Given the description of an element on the screen output the (x, y) to click on. 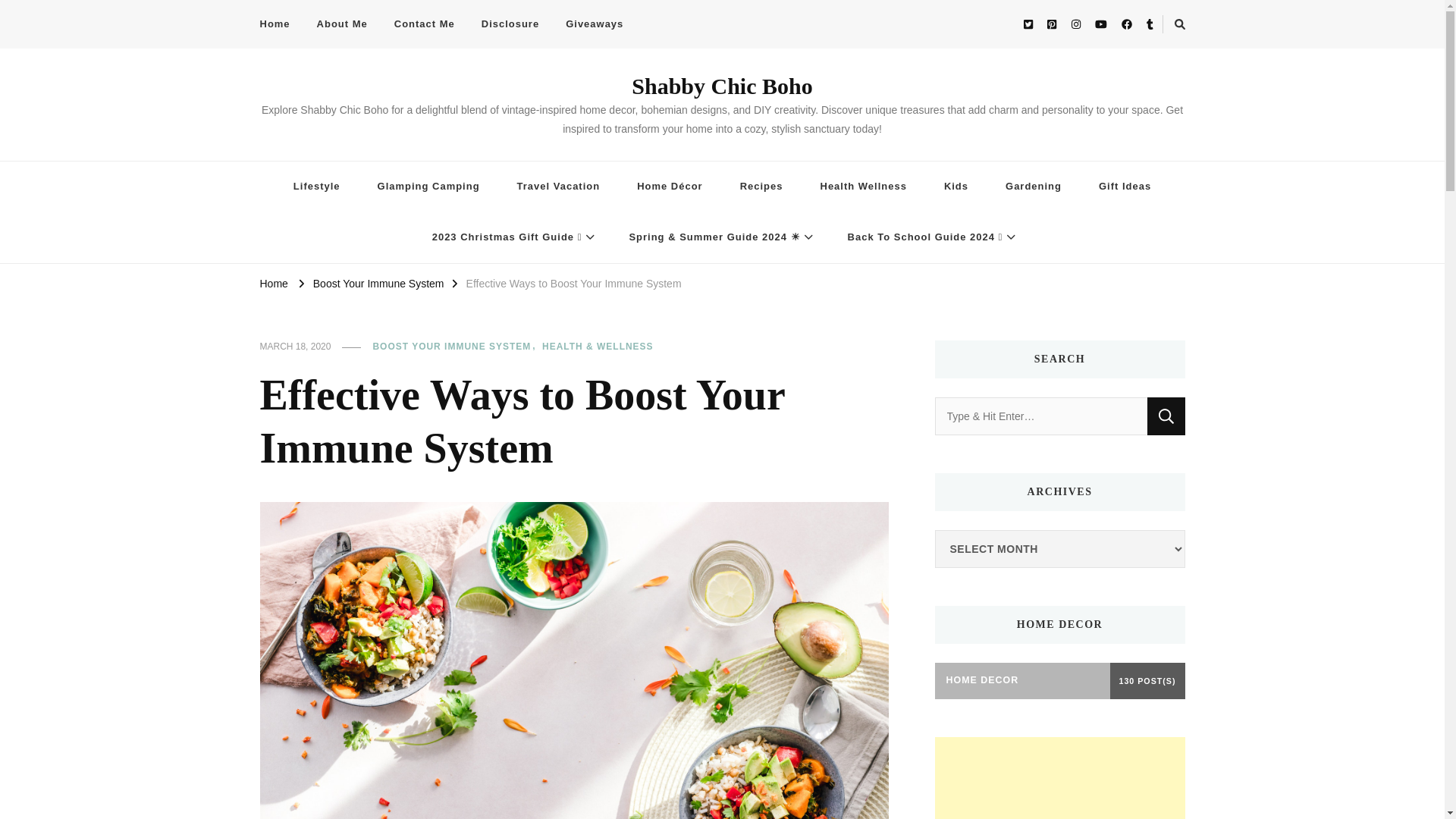
Gardening (1033, 186)
Home (280, 24)
Search (1166, 415)
Travel Vacation (558, 186)
Shabby Chic Boho (721, 85)
Giveaways (594, 24)
Gift Ideas (1124, 186)
Giveaways (594, 24)
Health Wellness (863, 186)
Disclosure (510, 24)
